Given the description of an element on the screen output the (x, y) to click on. 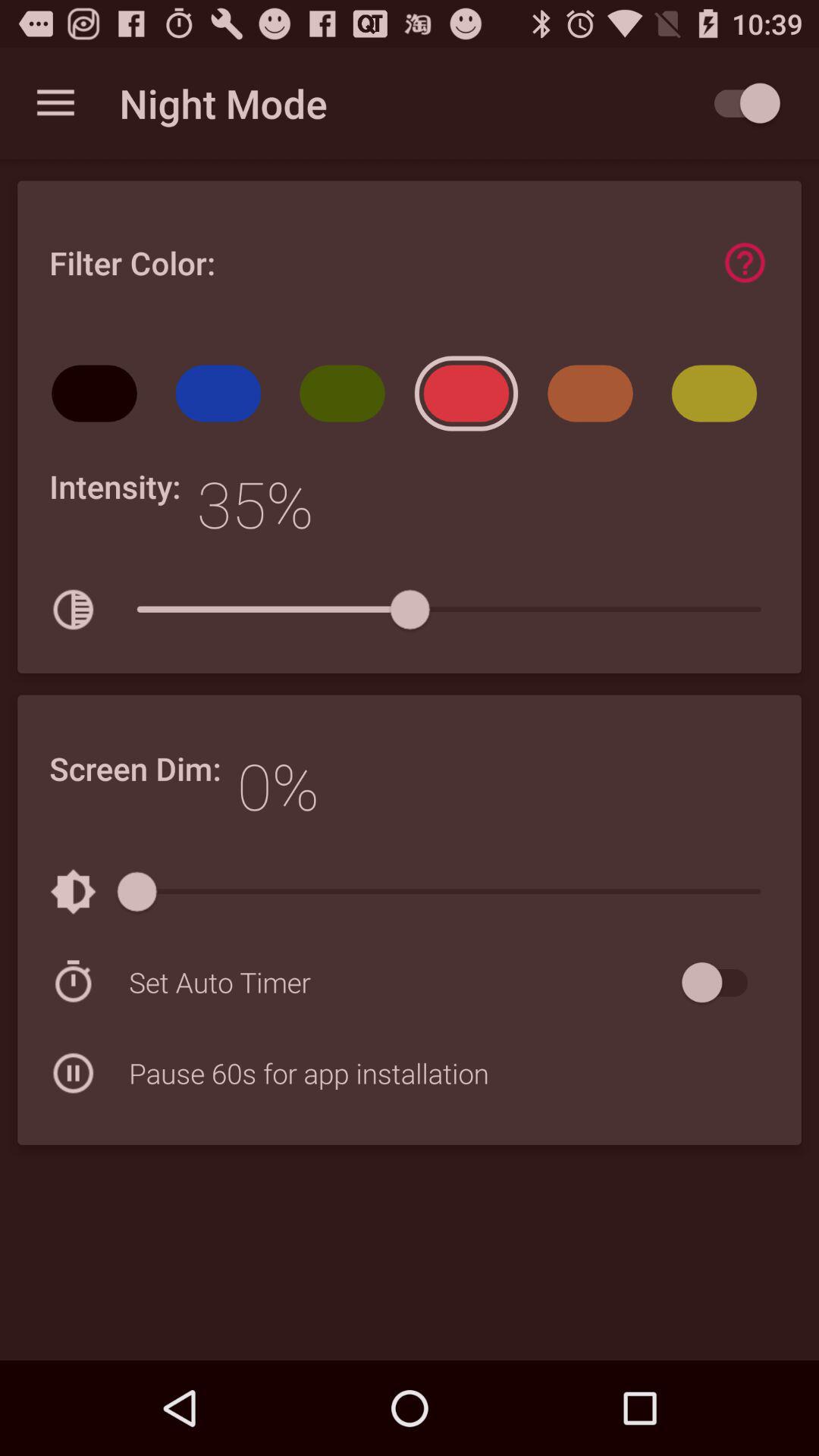
find more information (744, 262)
